Given the description of an element on the screen output the (x, y) to click on. 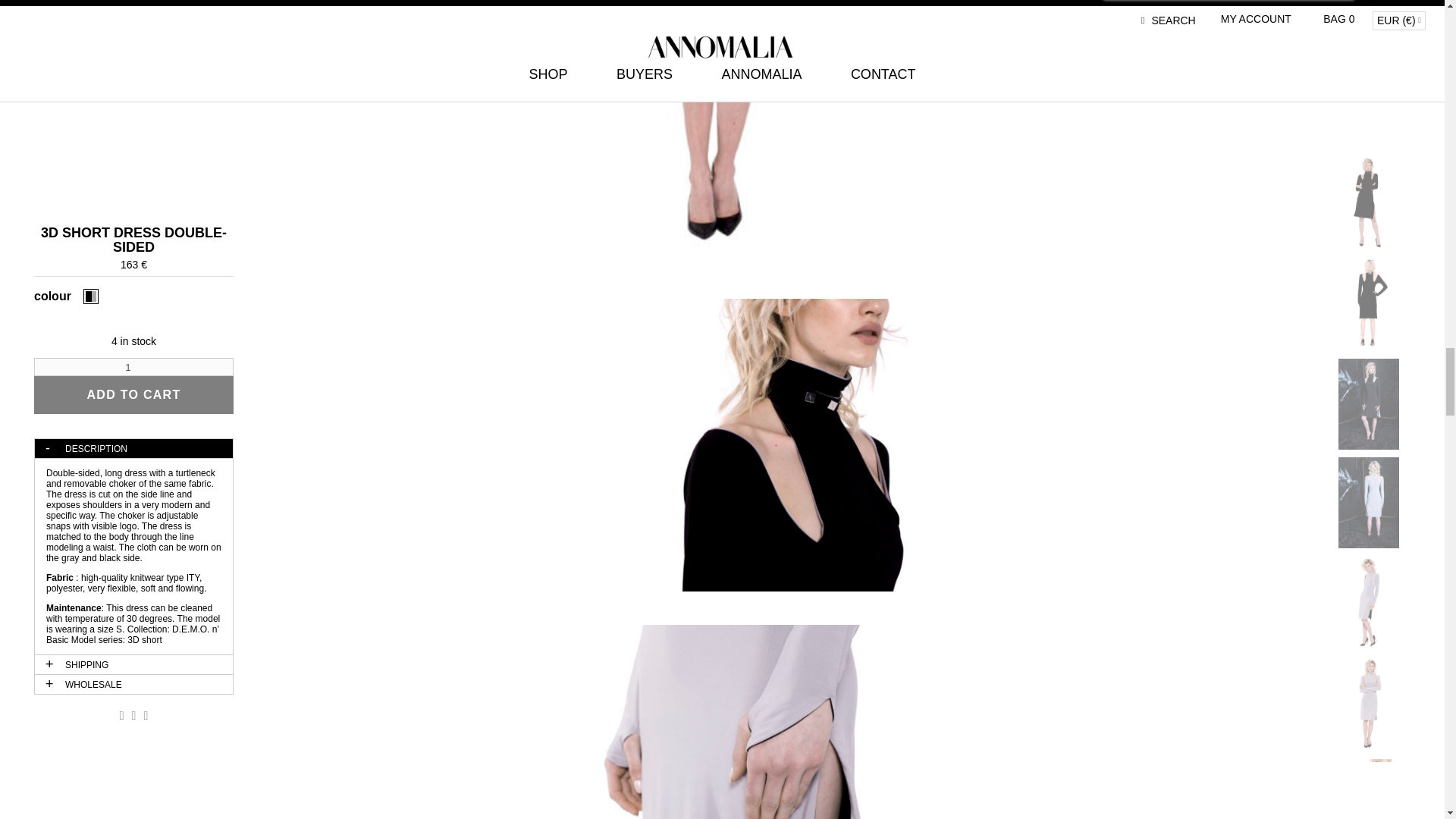
3D SHORT dress Double-sided 6 (722, 132)
3D SHORT dress Double-sided 8 (722, 721)
3D SHORT dress Double-sided 7 (722, 445)
